Given the description of an element on the screen output the (x, y) to click on. 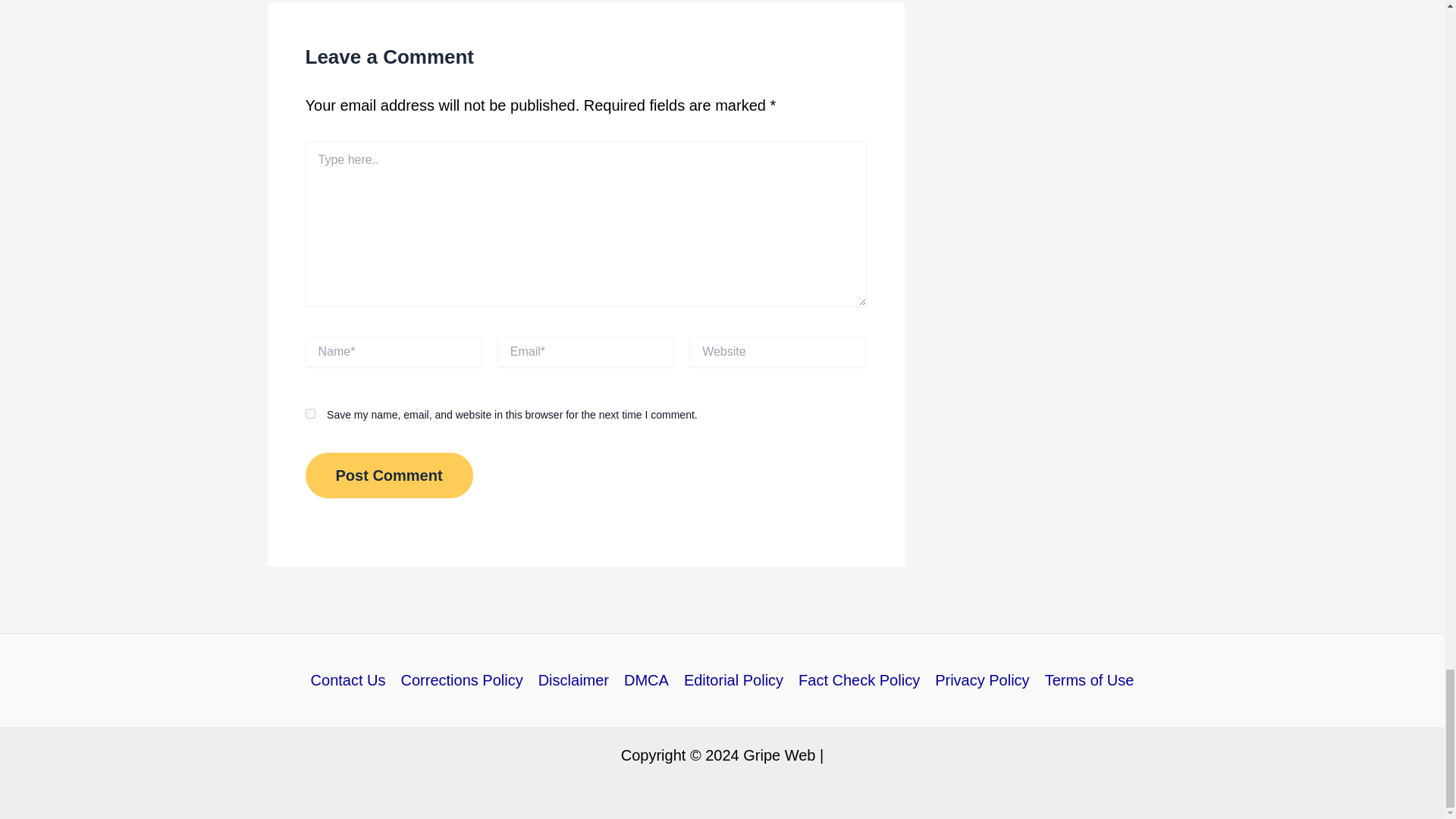
Post Comment (387, 474)
yes (309, 413)
Post Comment (387, 474)
